Given the description of an element on the screen output the (x, y) to click on. 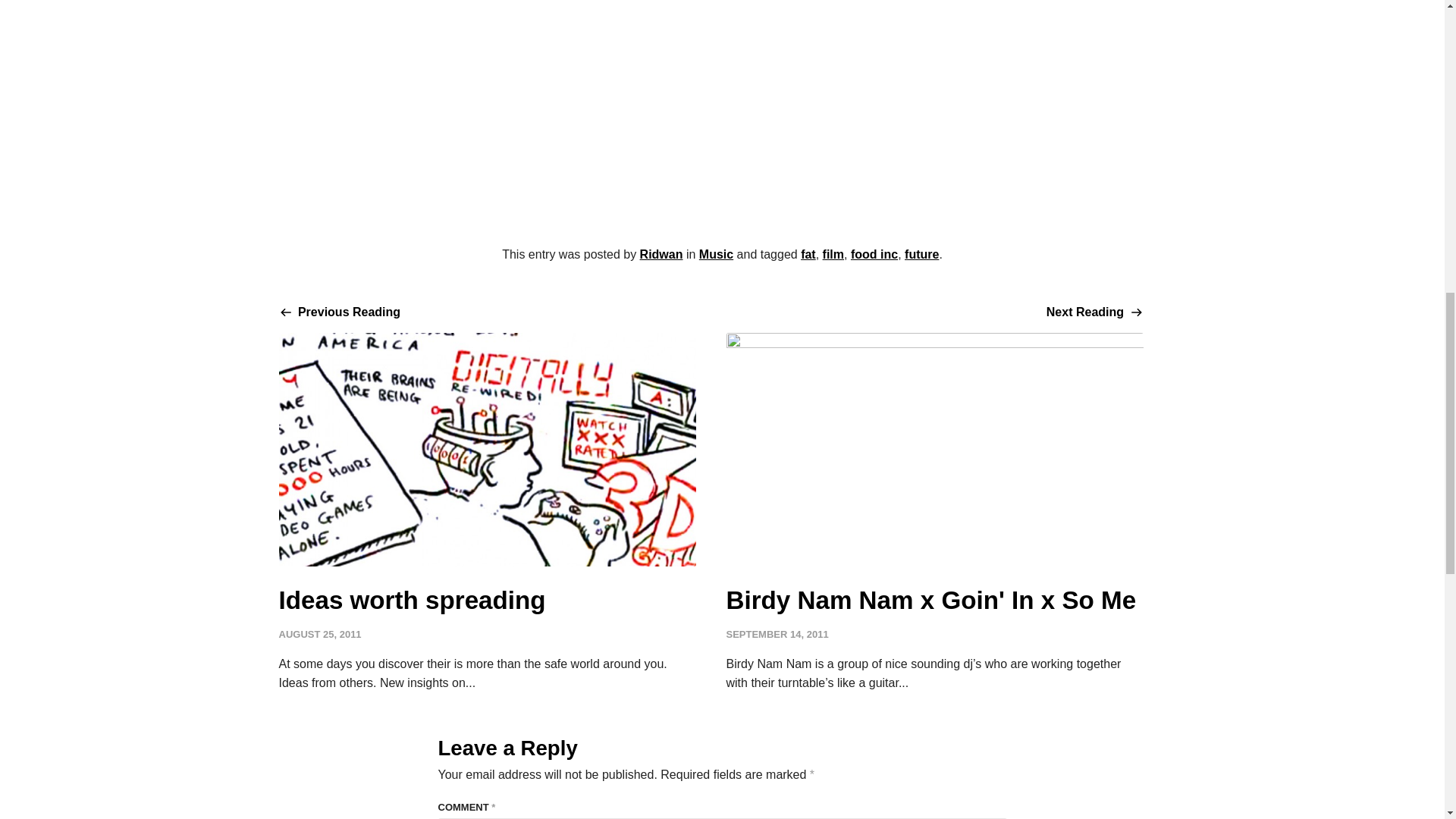
YouTube video player (722, 101)
fat (934, 458)
film (807, 254)
future (833, 254)
Music (921, 254)
Ridwan (487, 458)
food inc (715, 254)
View all posts by Ridwan (661, 254)
